Given the description of an element on the screen output the (x, y) to click on. 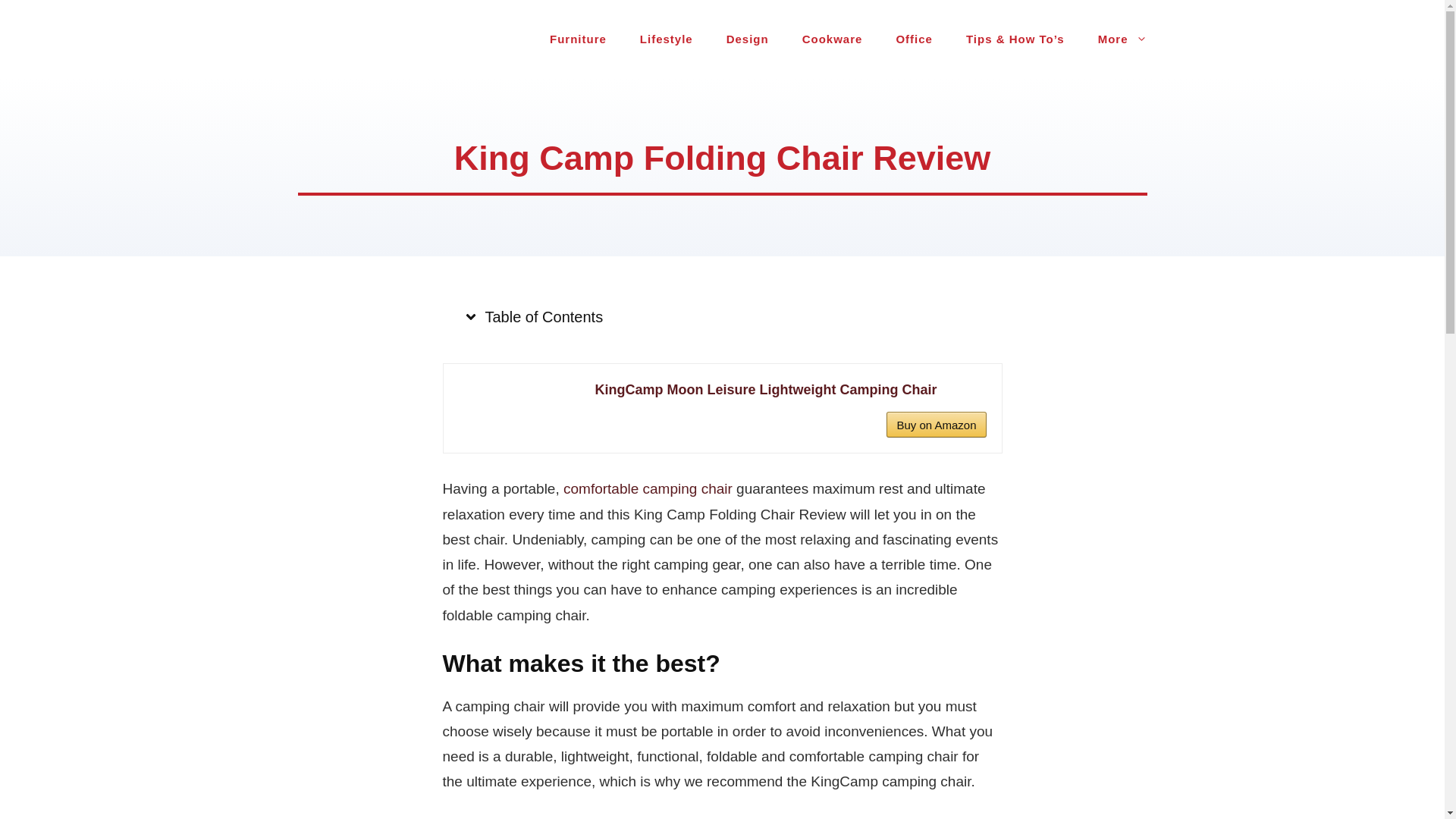
comfortable camping chair (647, 488)
Cookware (832, 39)
Lifestyle (665, 39)
More (1122, 39)
Furniture (577, 39)
Table of Contents (532, 316)
KingCamp Moon Leisure Lightweight Camping Chair (789, 390)
Office (914, 39)
Design (747, 39)
KingCamp Moon Leisure Lightweight Camping Chair (789, 390)
Buy on Amazon (935, 424)
Buy on Amazon (935, 424)
